Given the description of an element on the screen output the (x, y) to click on. 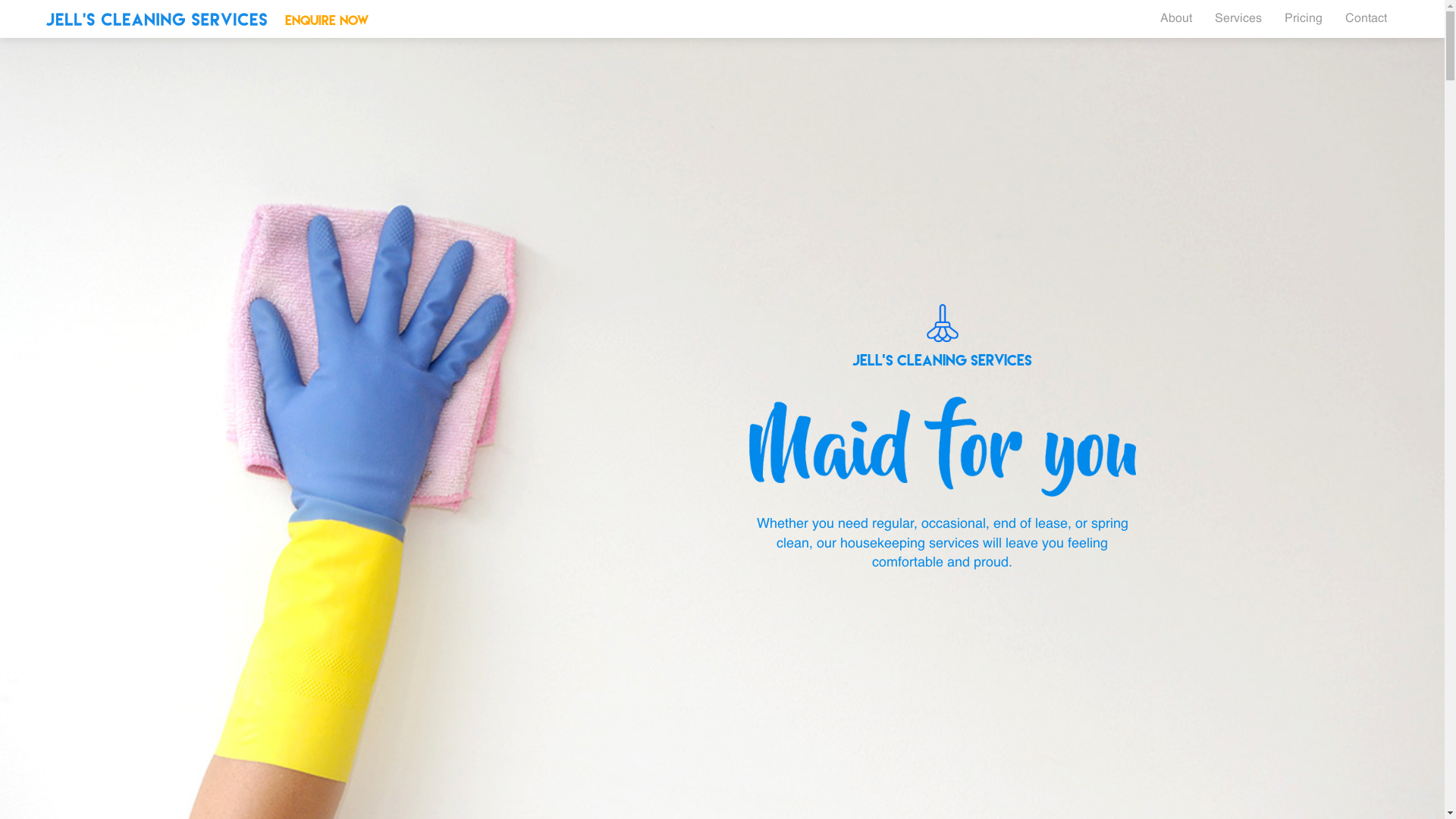
Contact Element type: text (1365, 18)
Jell's Cleaning Services Element type: hover (156, 19)
Pricing Element type: text (1303, 18)
ENQUIRE NOW Element type: text (326, 19)
About Element type: text (1175, 18)
Services Element type: text (1238, 18)
